Given the description of an element on the screen output the (x, y) to click on. 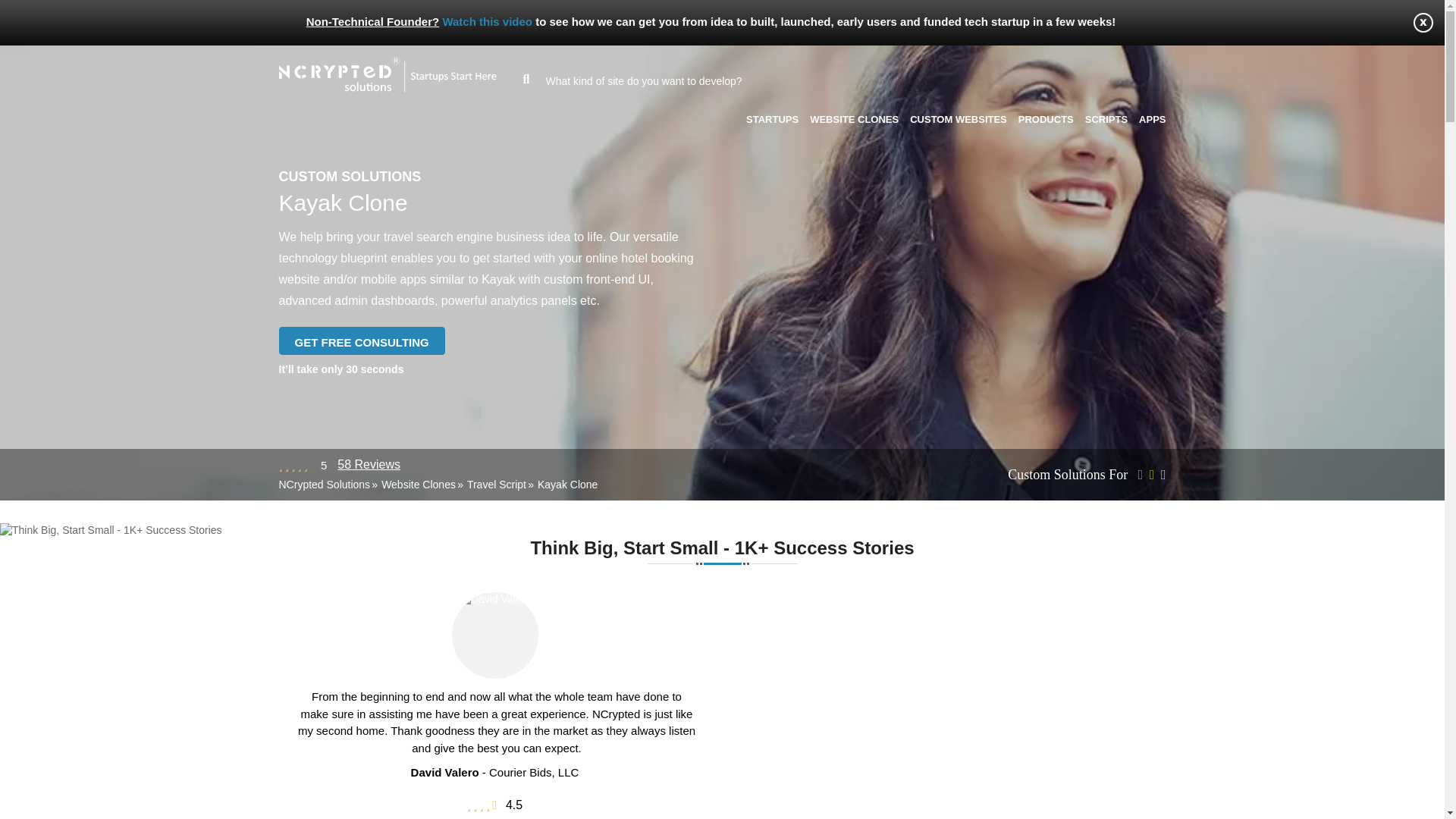
Products (1045, 119)
APPS (1152, 119)
Watch this video (487, 21)
NCrypted Solutions (325, 484)
Travel Script (496, 484)
Home (325, 484)
Website clones (853, 119)
Scripts (1105, 119)
Watch this video (487, 21)
SCRIPTS (1105, 119)
